Given the description of an element on the screen output the (x, y) to click on. 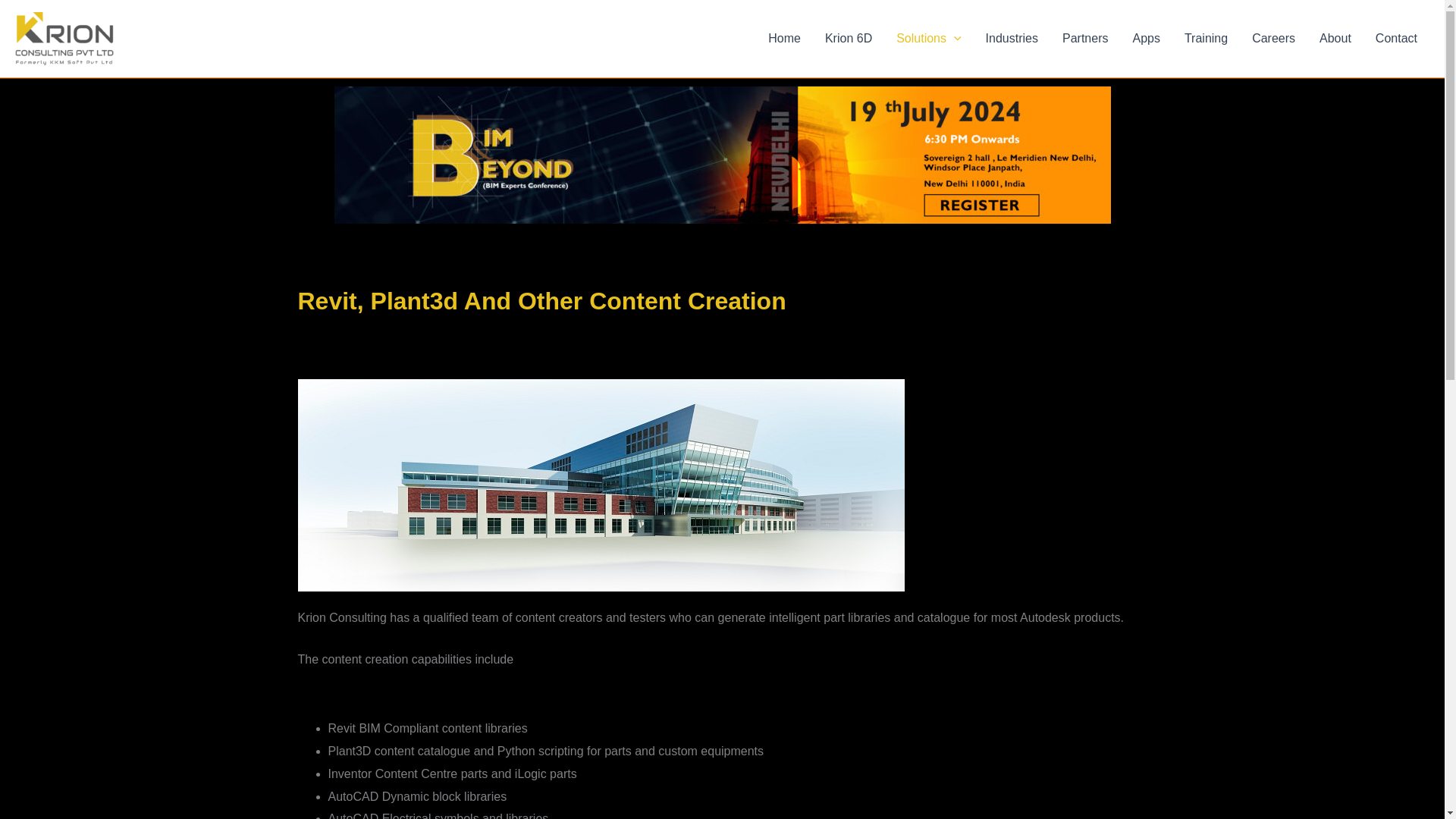
Contact (1395, 38)
Apps (1145, 38)
Home (783, 38)
Partners (1084, 38)
Training (1206, 38)
About (1334, 38)
Solutions (927, 38)
Careers (1273, 38)
Krion 6D (847, 38)
Industries (1011, 38)
